Given the description of an element on the screen output the (x, y) to click on. 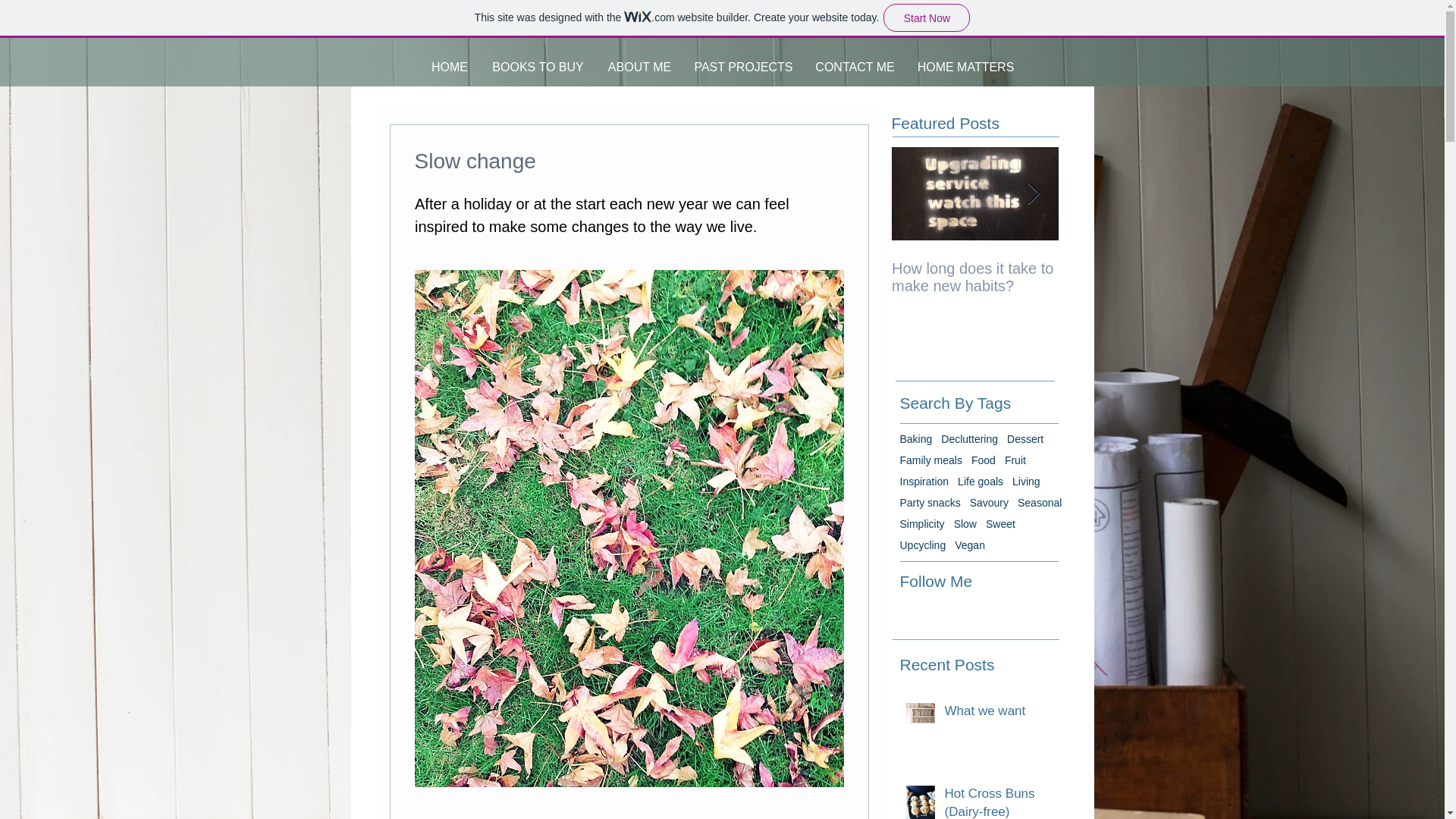
Upcycling (921, 544)
CONTACT ME (855, 66)
Vegan (970, 544)
Party snacks (929, 502)
Life goals (980, 481)
Savoury (989, 502)
Living (1026, 481)
Simplicity (921, 523)
Food (983, 460)
PAST PROJECTS (743, 66)
Baking (915, 439)
Decluttering (968, 439)
Slow (964, 523)
Fruit (1015, 460)
Sweet (999, 523)
